Given the description of an element on the screen output the (x, y) to click on. 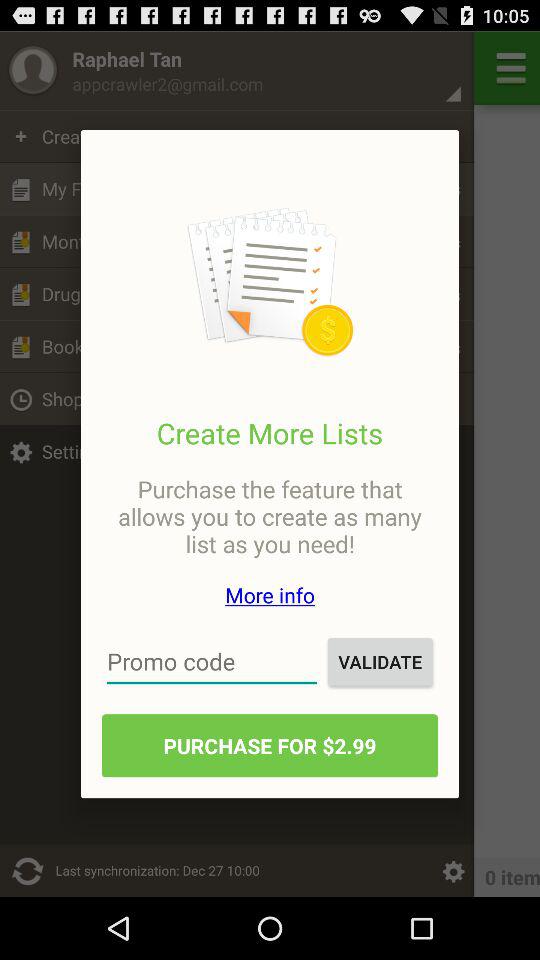
tap the purchase for 2 item (269, 745)
